Given the description of an element on the screen output the (x, y) to click on. 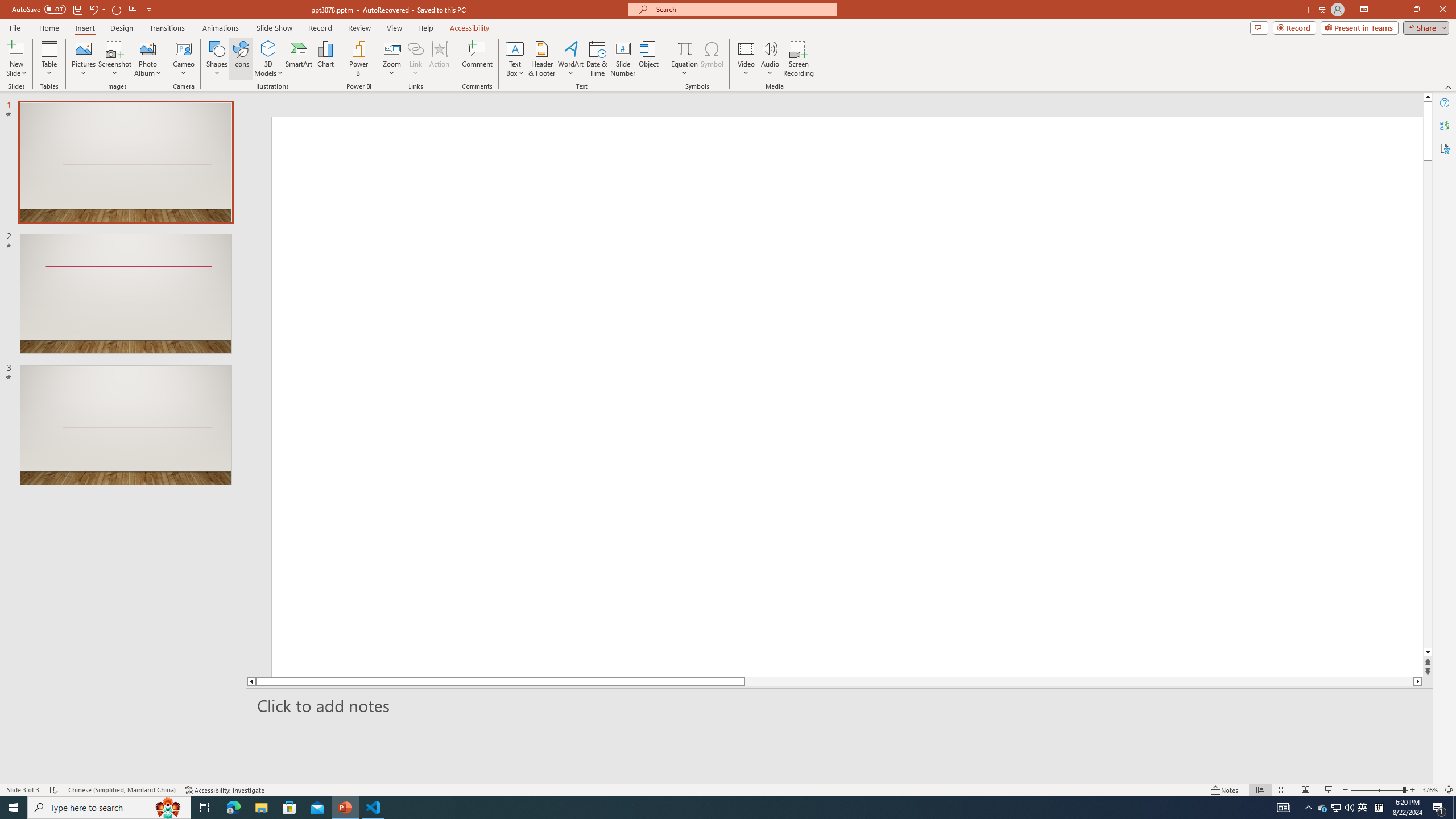
Symbol... (711, 58)
